Given the description of an element on the screen output the (x, y) to click on. 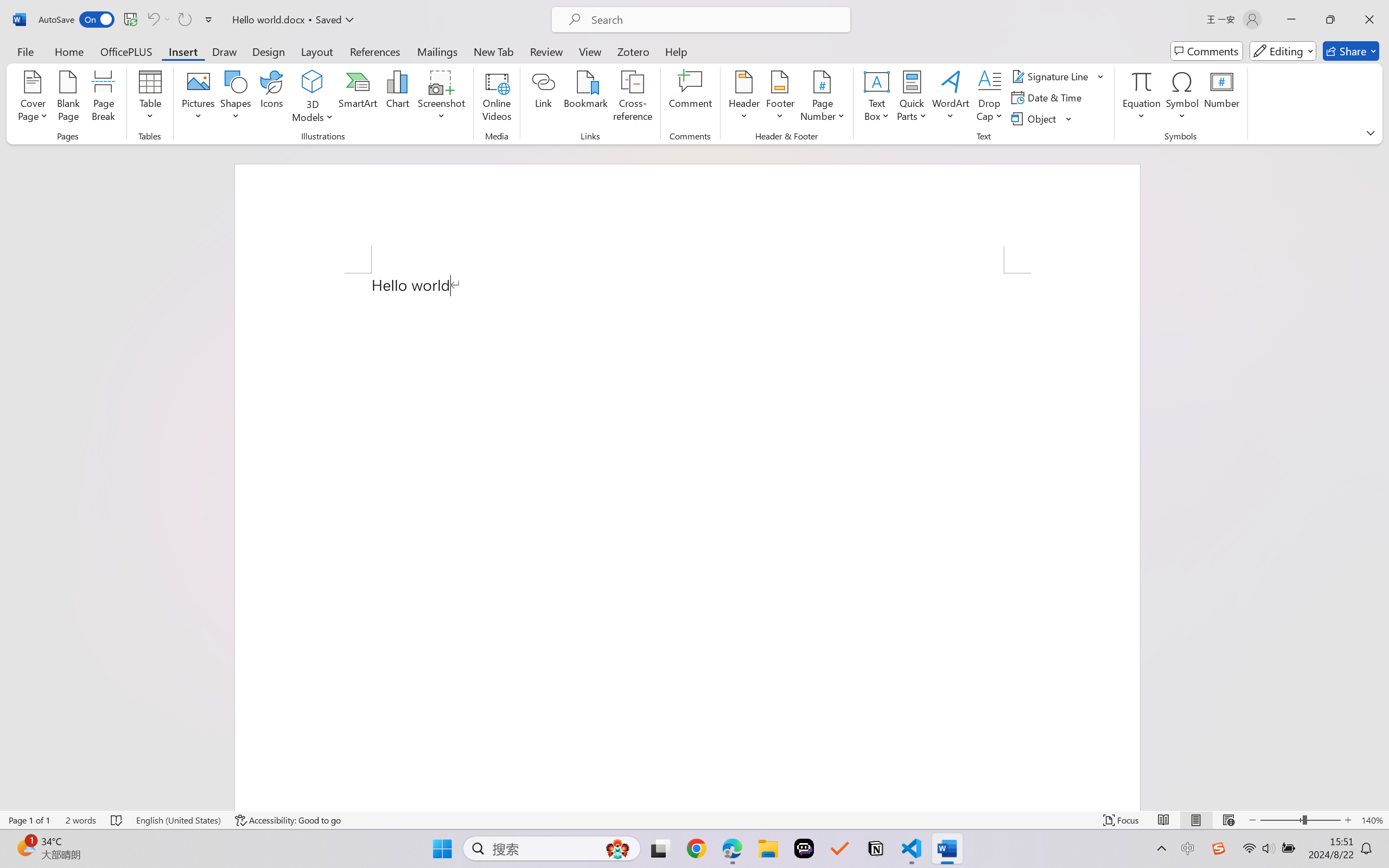
Home (69, 51)
Signature Line (1058, 75)
WordArt (950, 97)
Mailings (437, 51)
Blank Page (67, 97)
Quick Access Toolbar (127, 19)
3D Models (312, 97)
Accessibility Checker Accessibility: Good to go (288, 819)
Save (130, 19)
Zoom (1300, 819)
Icons (271, 97)
Minimize (1291, 19)
Restore Down (1330, 19)
Signature Line (1051, 75)
